Given the description of an element on the screen output the (x, y) to click on. 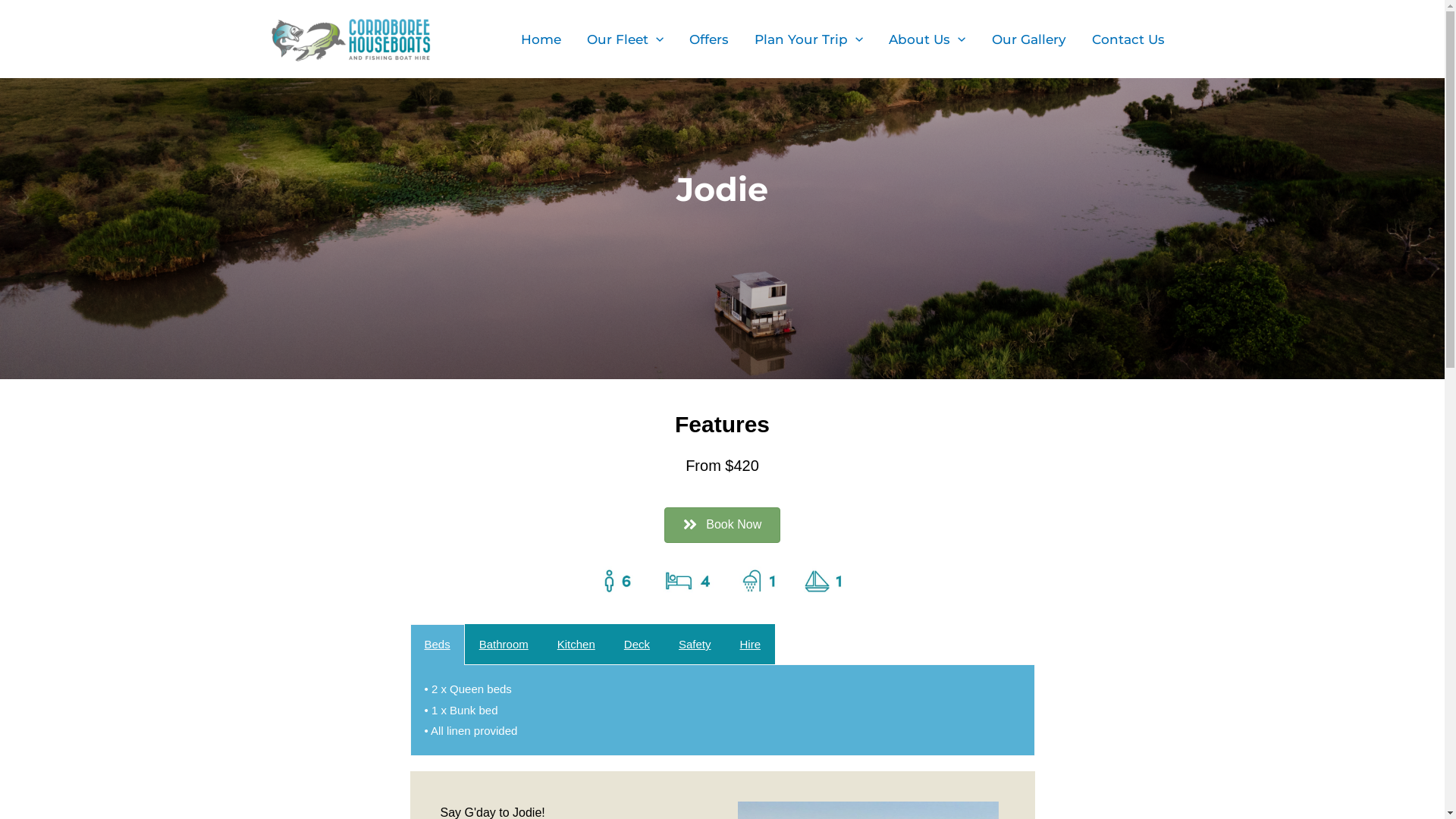
Deck Element type: text (636, 644)
Kitchen Element type: text (575, 644)
Our Fleet Element type: text (625, 39)
Contact Us Element type: text (1127, 39)
Plan Your Trip Element type: text (808, 39)
Beds Element type: text (436, 644)
Book Now Element type: text (722, 524)
Offers Element type: text (708, 39)
Our Gallery Element type: text (1028, 39)
Safety Element type: text (694, 644)
About Us Element type: text (926, 39)
Home Element type: text (541, 39)
Bathroom Element type: text (503, 644)
Hire Element type: text (750, 644)
